Given the description of an element on the screen output the (x, y) to click on. 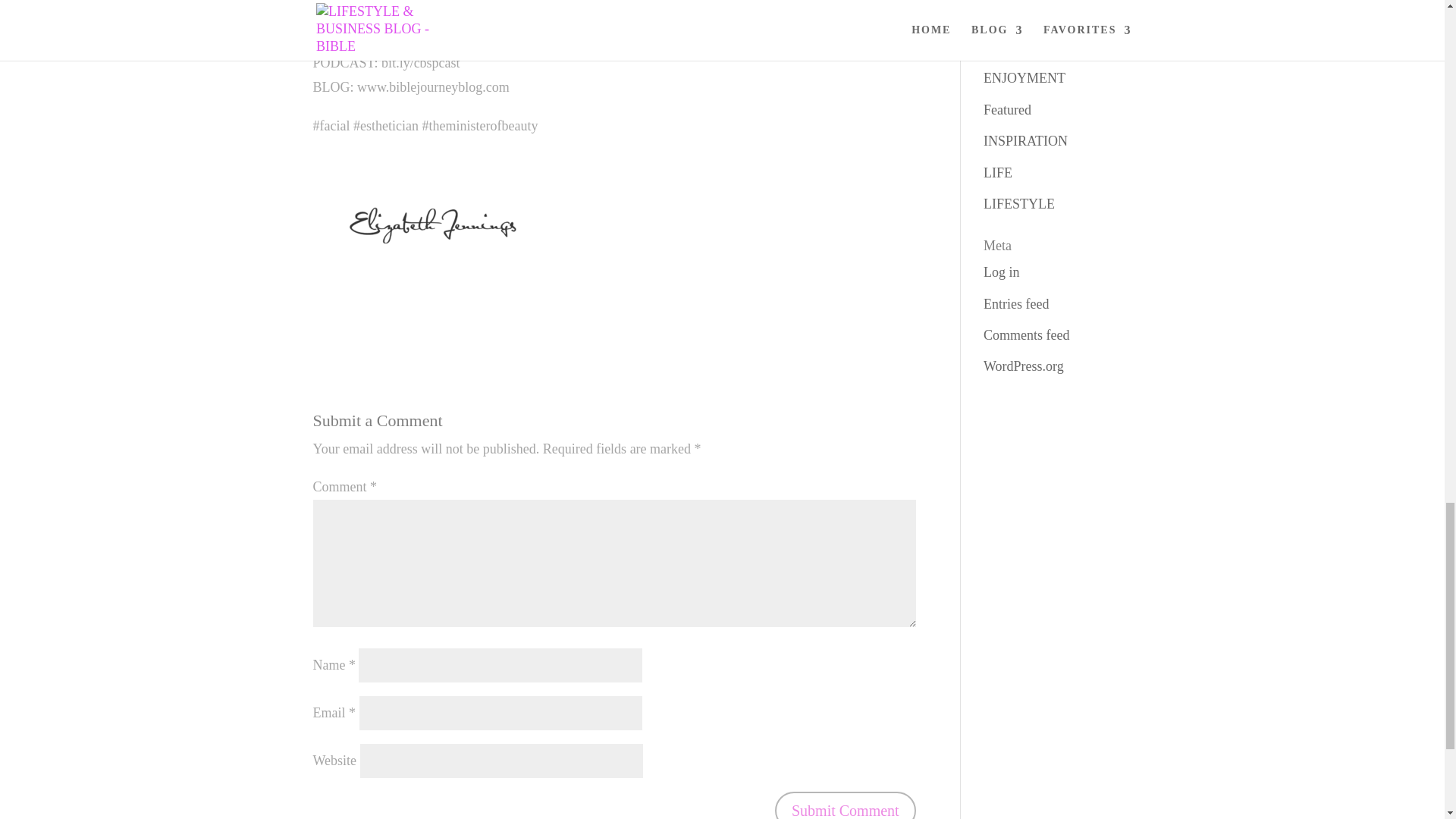
Submit Comment (844, 805)
Submit Comment (844, 805)
